Given the description of an element on the screen output the (x, y) to click on. 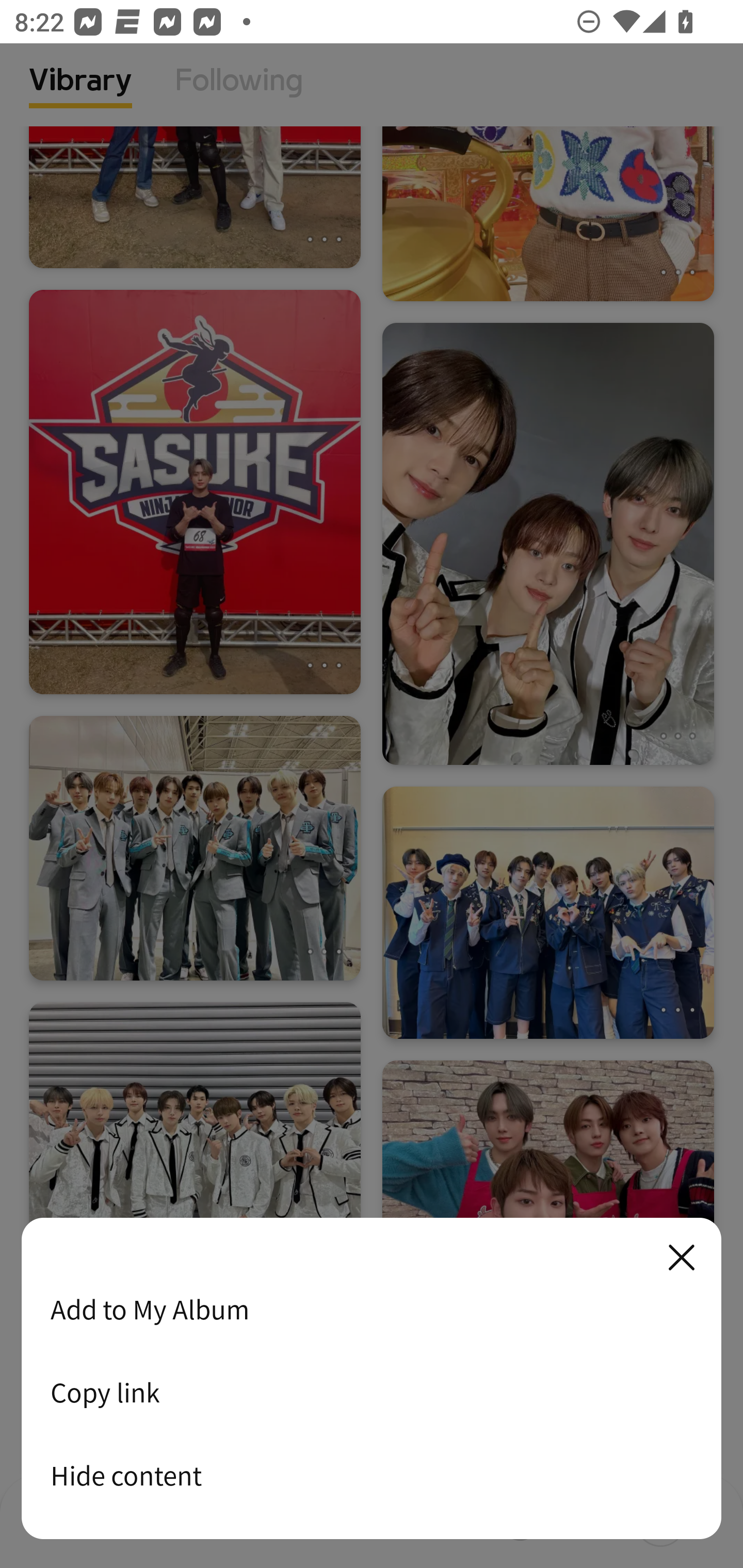
Add to My Album Copy link Hide content (371, 1378)
Add to My Album (371, 1308)
Copy link (371, 1391)
Hide content (371, 1474)
